Given the description of an element on the screen output the (x, y) to click on. 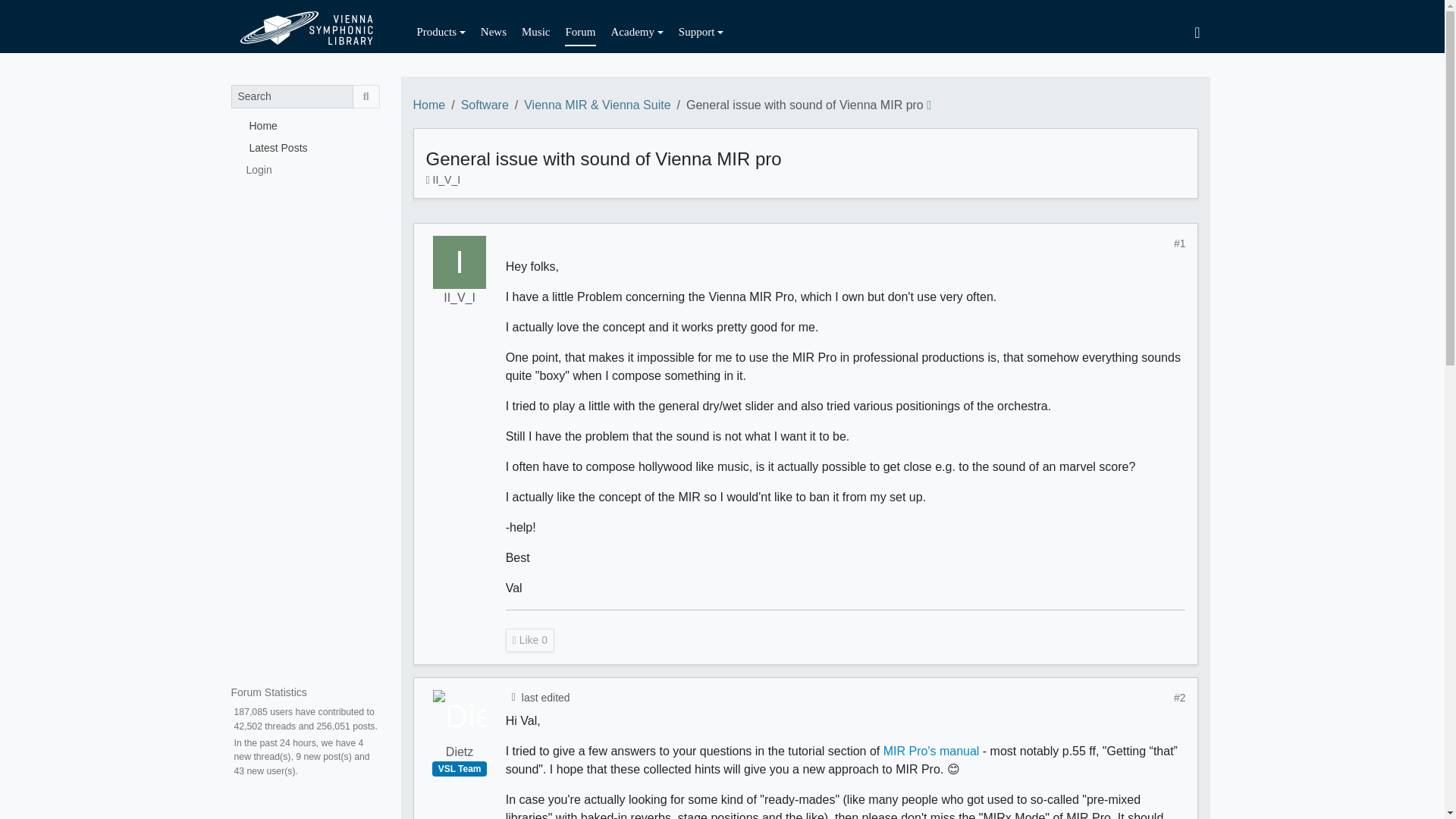
Latest Posts (304, 147)
News (493, 32)
Dietz (459, 716)
Academy (637, 32)
Forum (579, 32)
Dietz (459, 751)
Music (535, 32)
Products (441, 32)
